Given the description of an element on the screen output the (x, y) to click on. 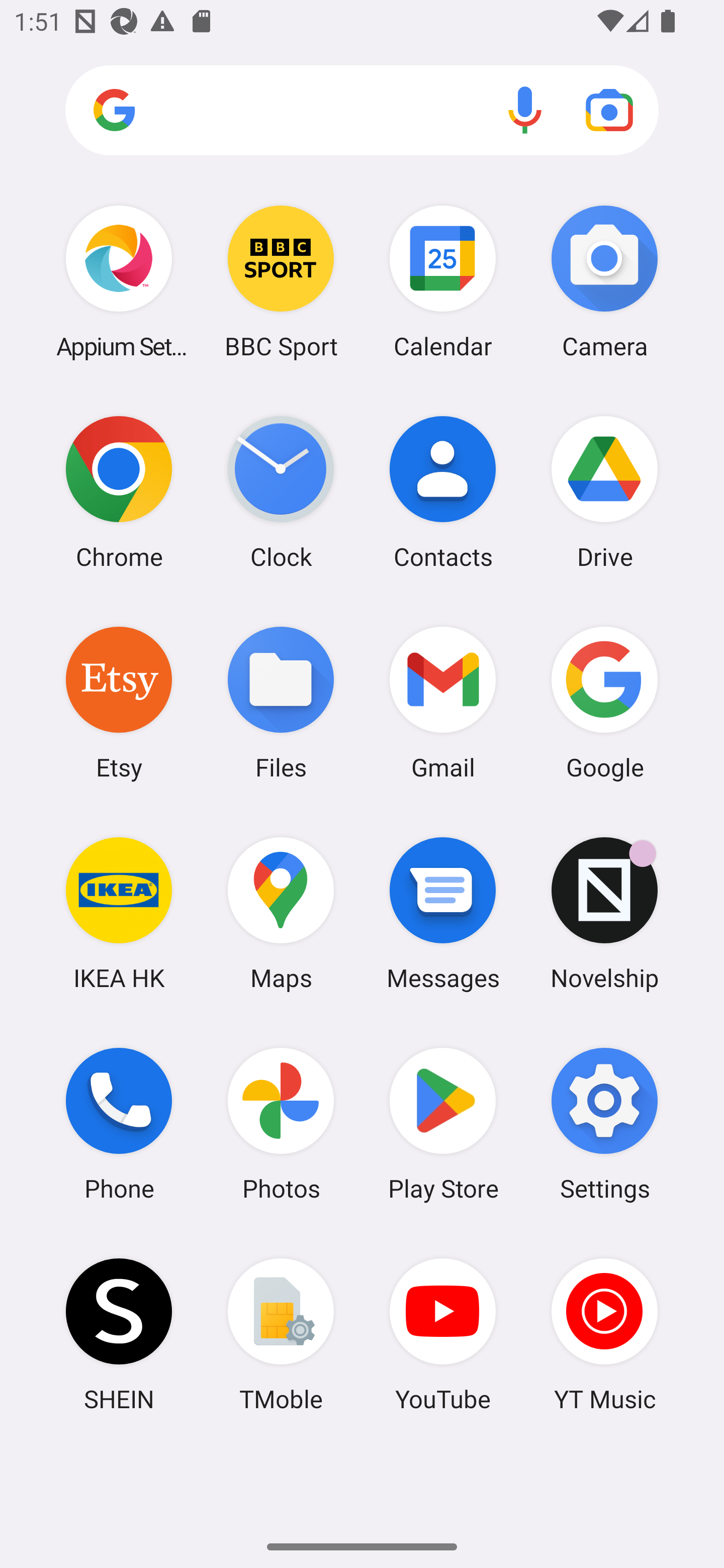
Search apps, web and more (361, 110)
Voice search (524, 109)
Google Lens (608, 109)
Appium Settings (118, 281)
BBC Sport (280, 281)
Calendar (443, 281)
Camera (604, 281)
Chrome (118, 492)
Clock (280, 492)
Contacts (443, 492)
Drive (604, 492)
Etsy (118, 702)
Files (280, 702)
Gmail (443, 702)
Google (604, 702)
IKEA HK (118, 913)
Maps (280, 913)
Messages (443, 913)
Novelship Novelship has 9 notifications (604, 913)
Phone (118, 1124)
Photos (280, 1124)
Play Store (443, 1124)
Settings (604, 1124)
SHEIN (118, 1334)
TMoble (280, 1334)
YouTube (443, 1334)
YT Music (604, 1334)
